Given the description of an element on the screen output the (x, y) to click on. 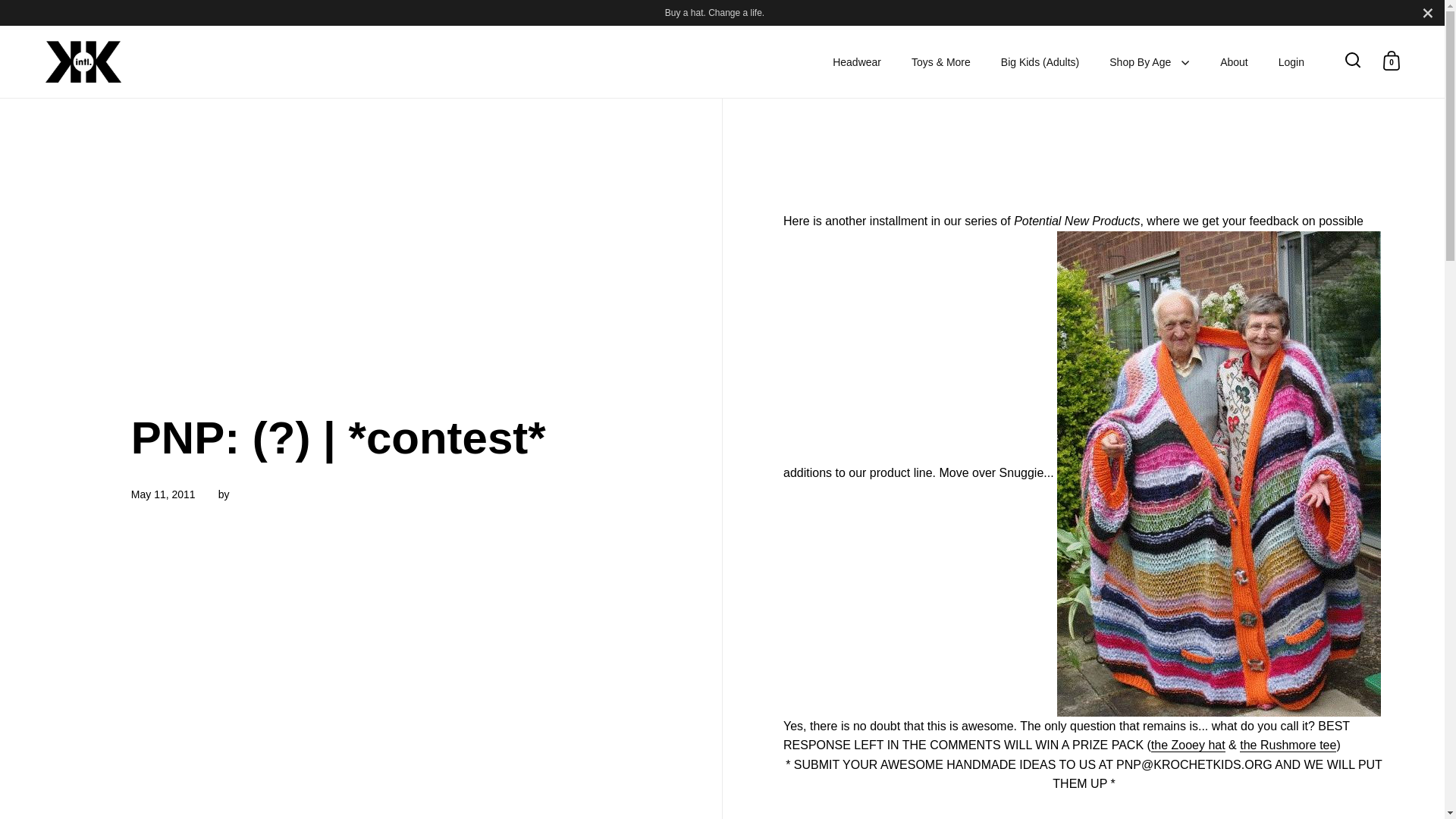
Open cart (1390, 60)
Open search (1353, 60)
Shop By Age (1149, 61)
the Zooey hat (1188, 745)
About (1234, 61)
Login (1291, 61)
Headwear (856, 61)
the Rushmore tee (1288, 745)
